Given the description of an element on the screen output the (x, y) to click on. 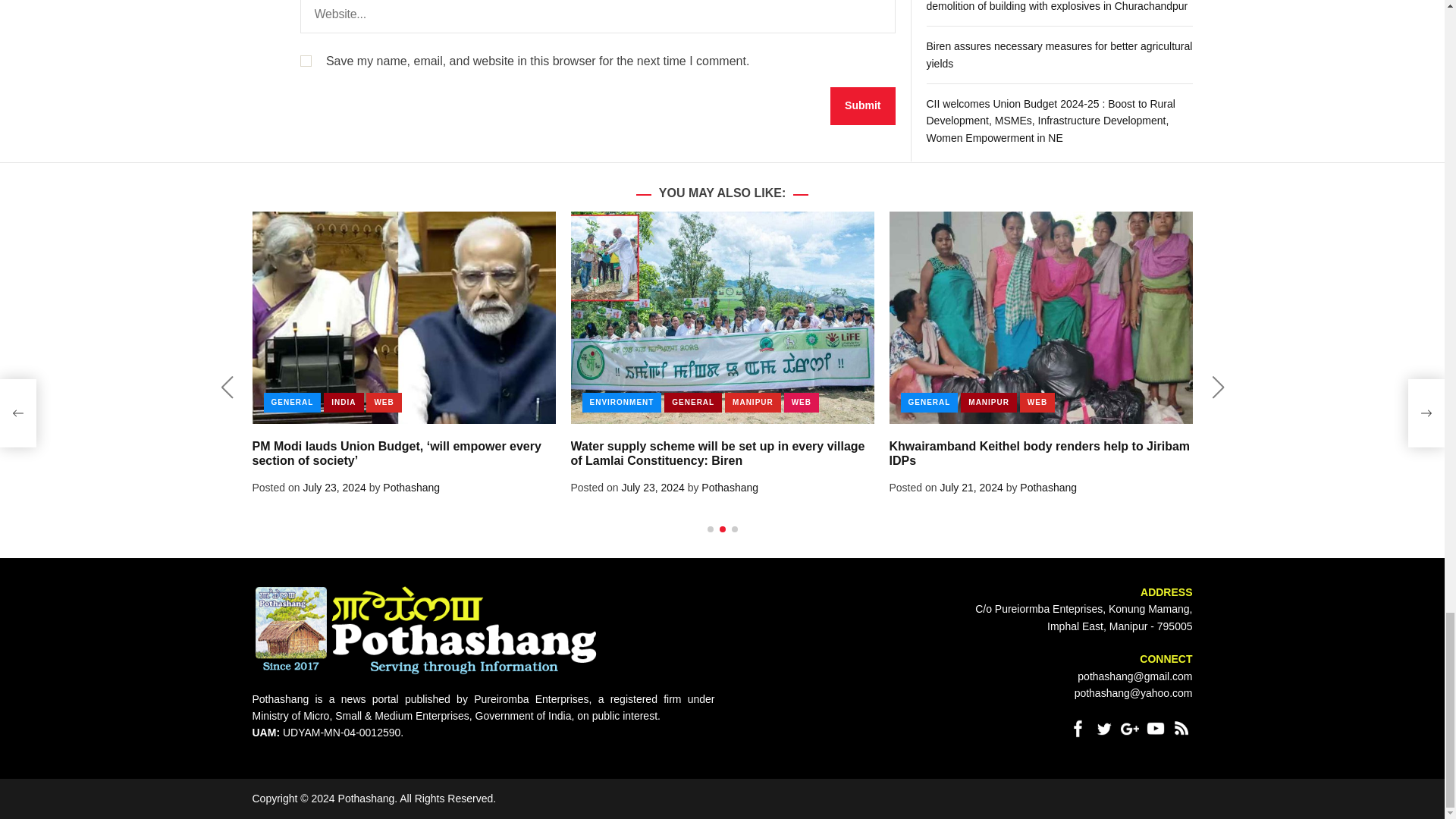
Submit (862, 105)
yes (305, 60)
Submit (862, 105)
